Given the description of an element on the screen output the (x, y) to click on. 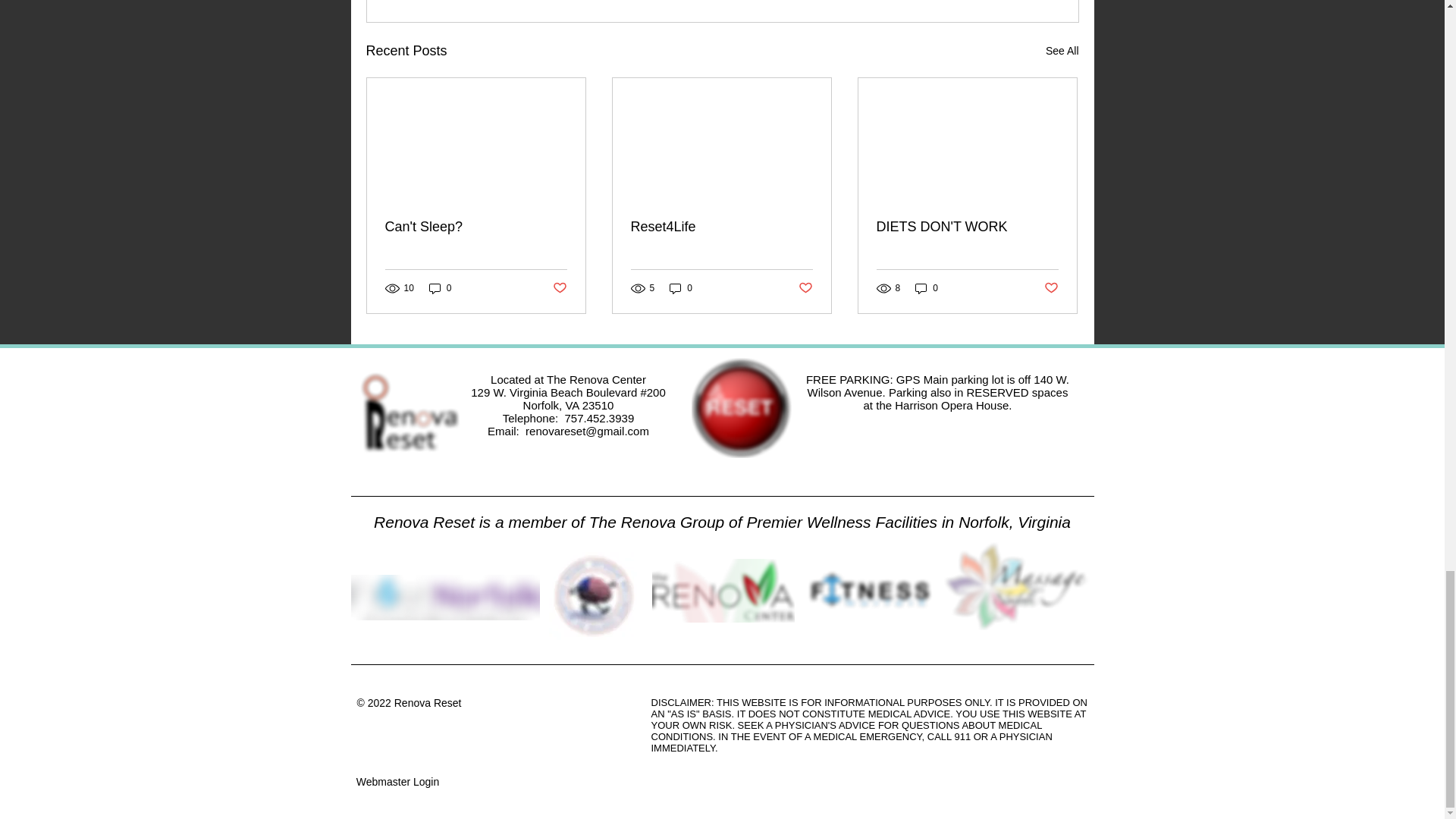
Can't Sleep? (476, 227)
Reset4Life (721, 227)
0 (440, 288)
0 (681, 288)
DIETS DON'T WORK (967, 227)
See All (1061, 51)
Post not marked as liked (1050, 288)
Post not marked as liked (804, 288)
Post not marked as liked (558, 288)
0 (926, 288)
